Given the description of an element on the screen output the (x, y) to click on. 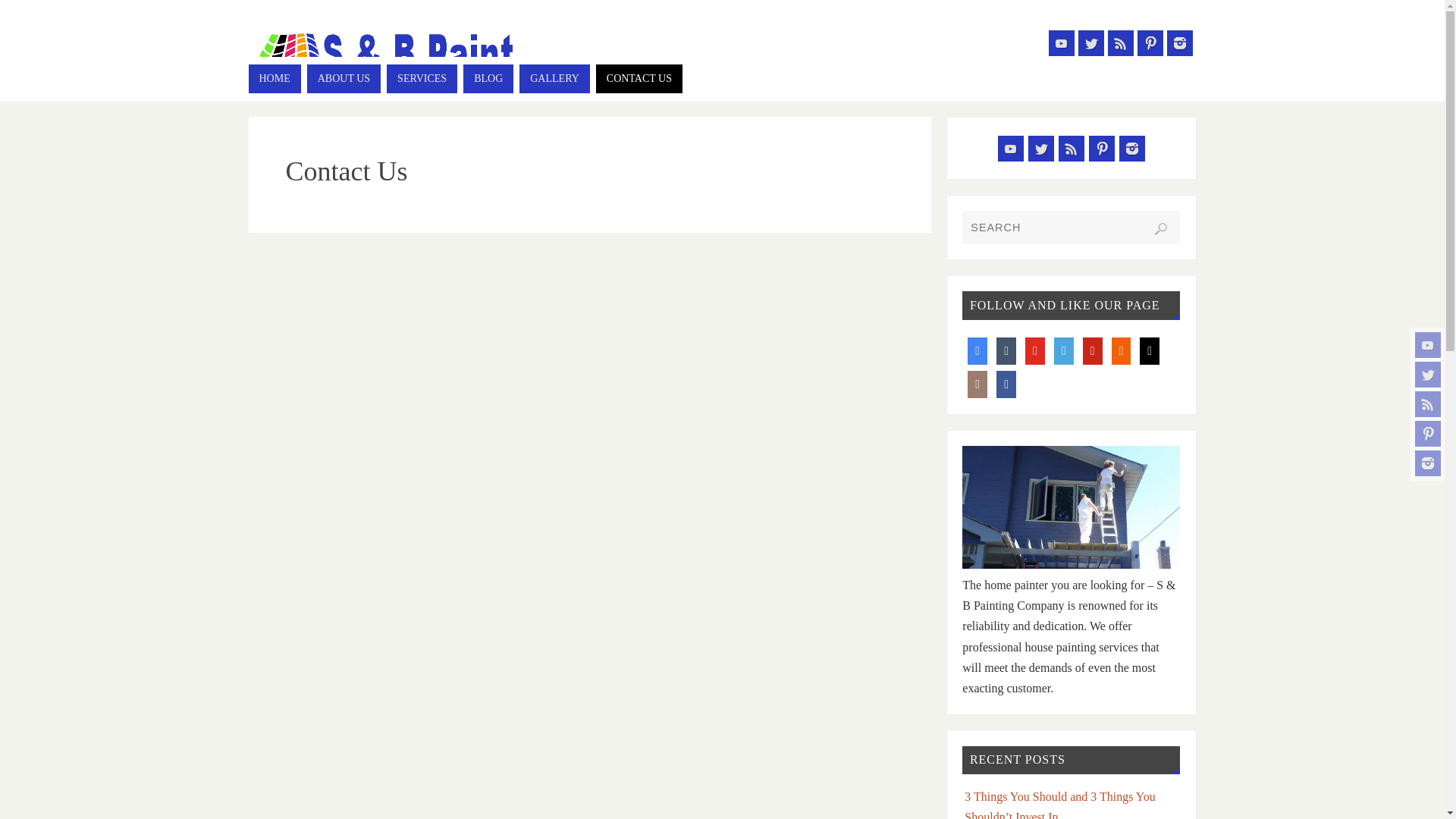
Instagram (1179, 43)
CONTACT US (638, 78)
Instagram (1428, 462)
HOME (274, 78)
Twitter (1090, 43)
ABOUT US (343, 78)
BLOG (488, 78)
YouTube (1010, 148)
RSS (1119, 43)
S and B Painting Services House Painting Commercial Painting (381, 51)
GALLERY (554, 78)
YouTube (1061, 43)
YouTube (1428, 344)
Twitter (1040, 148)
Twitter (1428, 374)
